Given the description of an element on the screen output the (x, y) to click on. 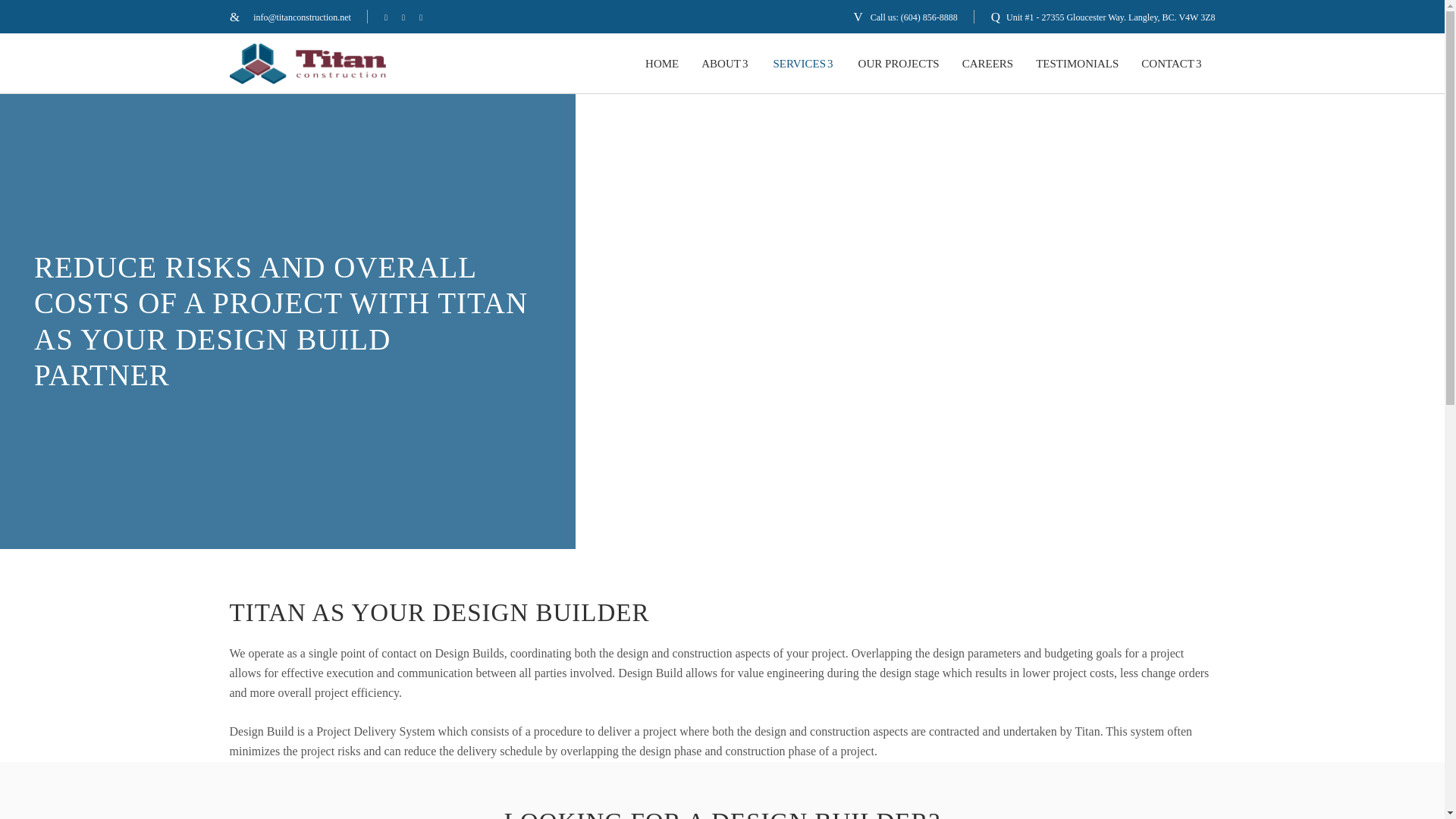
ABOUT (725, 63)
HOME (661, 63)
CONTACT (1171, 63)
OUR PROJECTS (898, 63)
SERVICES (803, 63)
TESTIMONIALS (1077, 63)
CAREERS (987, 63)
